Given the description of an element on the screen output the (x, y) to click on. 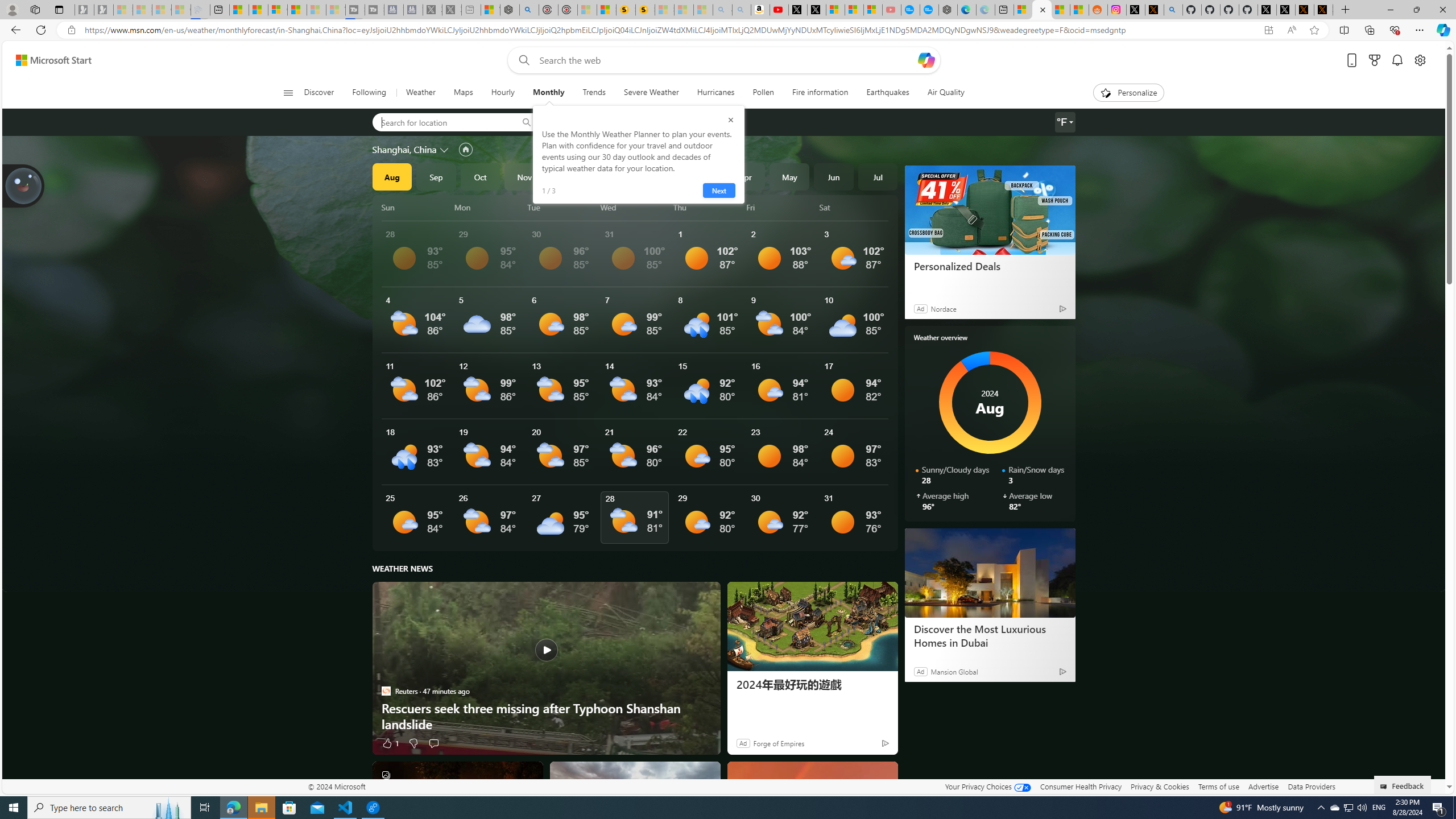
Enter your search term (726, 59)
Trends (593, 92)
Weather (420, 92)
Apr (745, 176)
Data Providers (1311, 786)
